Given the description of an element on the screen output the (x, y) to click on. 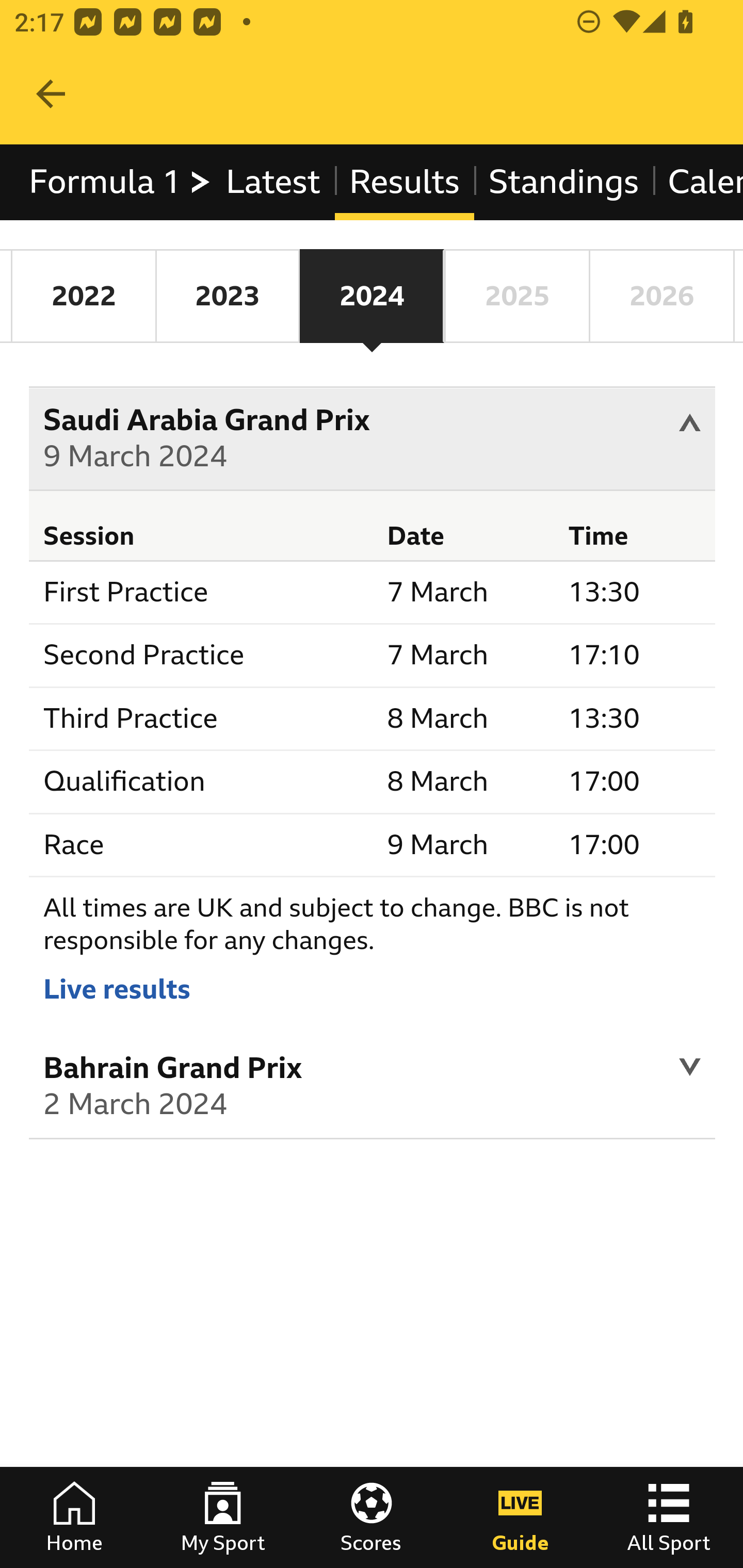
Navigate up (50, 93)
Formula 1  (120, 181)
Latest (272, 181)
Results (403, 181)
Standings (564, 181)
2022 (83, 296)
2023 (227, 296)
2024, Selected 2024 , Selected (371, 296)
Live results (117, 988)
Bahrain Grand Prix, Bahrain IC 2 March 2024 (372, 1088)
Home (74, 1517)
My Sport (222, 1517)
Scores (371, 1517)
All Sport (668, 1517)
